Given the description of an element on the screen output the (x, y) to click on. 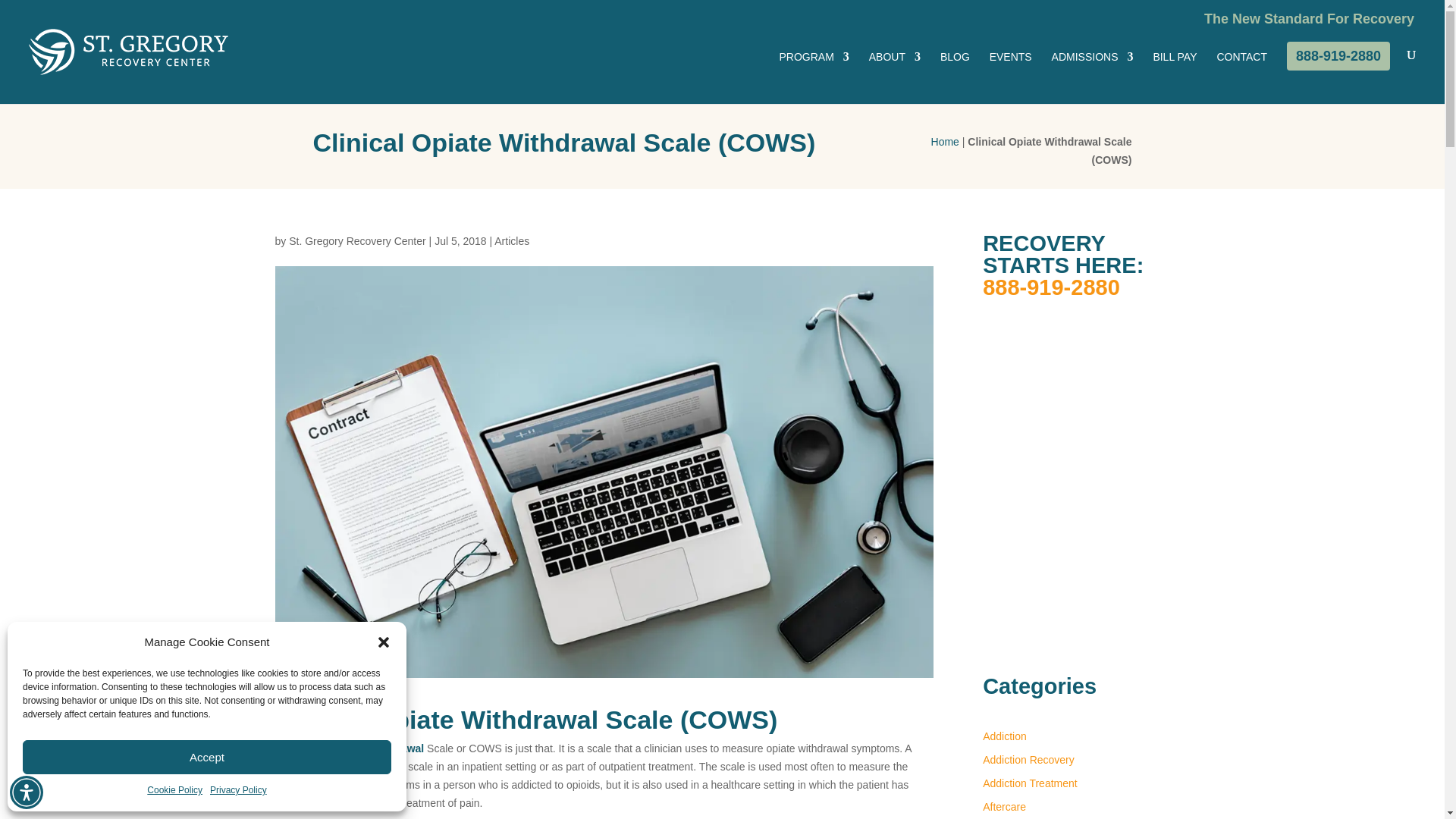
ADMISSIONS (1092, 77)
Cookie Policy (174, 791)
PROGRAM (813, 77)
Accept (207, 756)
Posts by St. Gregory Recovery Center (357, 241)
ABOUT (894, 77)
CONTACT (1240, 77)
Accessibility Menu (26, 792)
888-919-2880 (1338, 55)
Privacy Policy (237, 791)
